Given the description of an element on the screen output the (x, y) to click on. 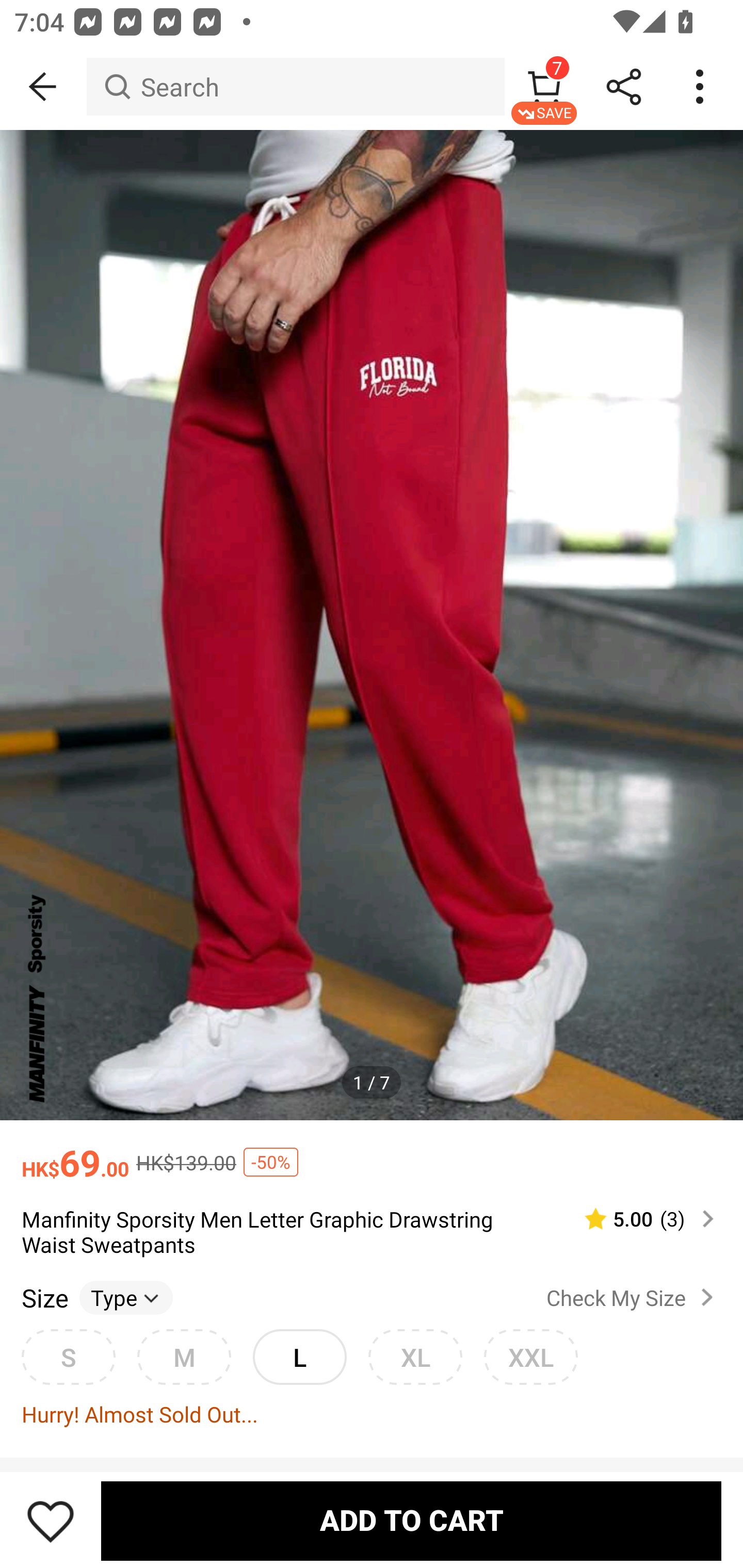
BACK (43, 86)
7 SAVE (543, 87)
Search (295, 87)
1 / 7 (371, 1082)
HK$69.00 HK$139.00 -50% (371, 1152)
5.00 (3) (640, 1219)
Size (44, 1297)
Type (126, 1297)
Check My Size (633, 1297)
S (68, 1356)
M (184, 1356)
L Lunselected option (299, 1356)
XL (415, 1356)
XXL (530, 1356)
Hurry! Almost Sold Out... (371, 1413)
ADD TO CART (411, 1520)
Save (50, 1520)
